Given the description of an element on the screen output the (x, y) to click on. 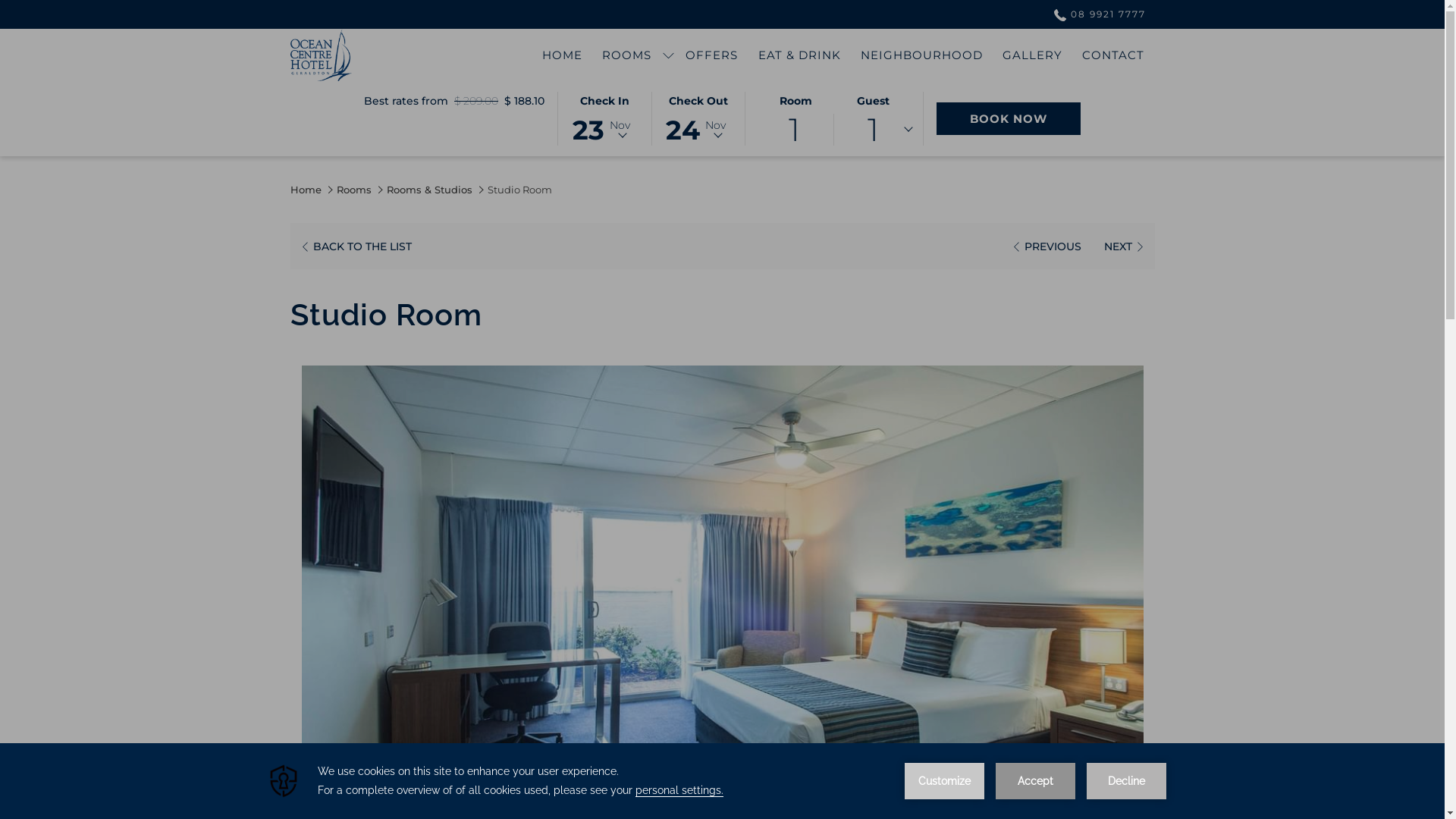
PREVIOUS Element type: text (1045, 245)
Studio Room Element type: text (518, 189)
08 9921 7777 Element type: text (1094, 13)
HOME Element type: text (562, 54)
Home Element type: text (304, 189)
BACK TO THE LIST Element type: text (354, 245)
Back to the homepage Element type: hover (320, 54)
Rooms & Studios Element type: text (429, 189)
EAT & DRINK Element type: text (798, 54)
Rooms Element type: text (353, 189)
ROOMS Element type: text (626, 54)
CONTACT Element type: text (1113, 54)
OFFERS Element type: text (711, 54)
NEIGHBOURHOOD Element type: text (921, 54)
GALLERY Element type: text (1032, 54)
Best rates from  $ 209.00  $ 188.10 Element type: text (454, 100)
BOOK NOW
OPENS IN A NEW TAB Element type: text (1008, 118)
NEXT Element type: text (1123, 245)
